Given the description of an element on the screen output the (x, y) to click on. 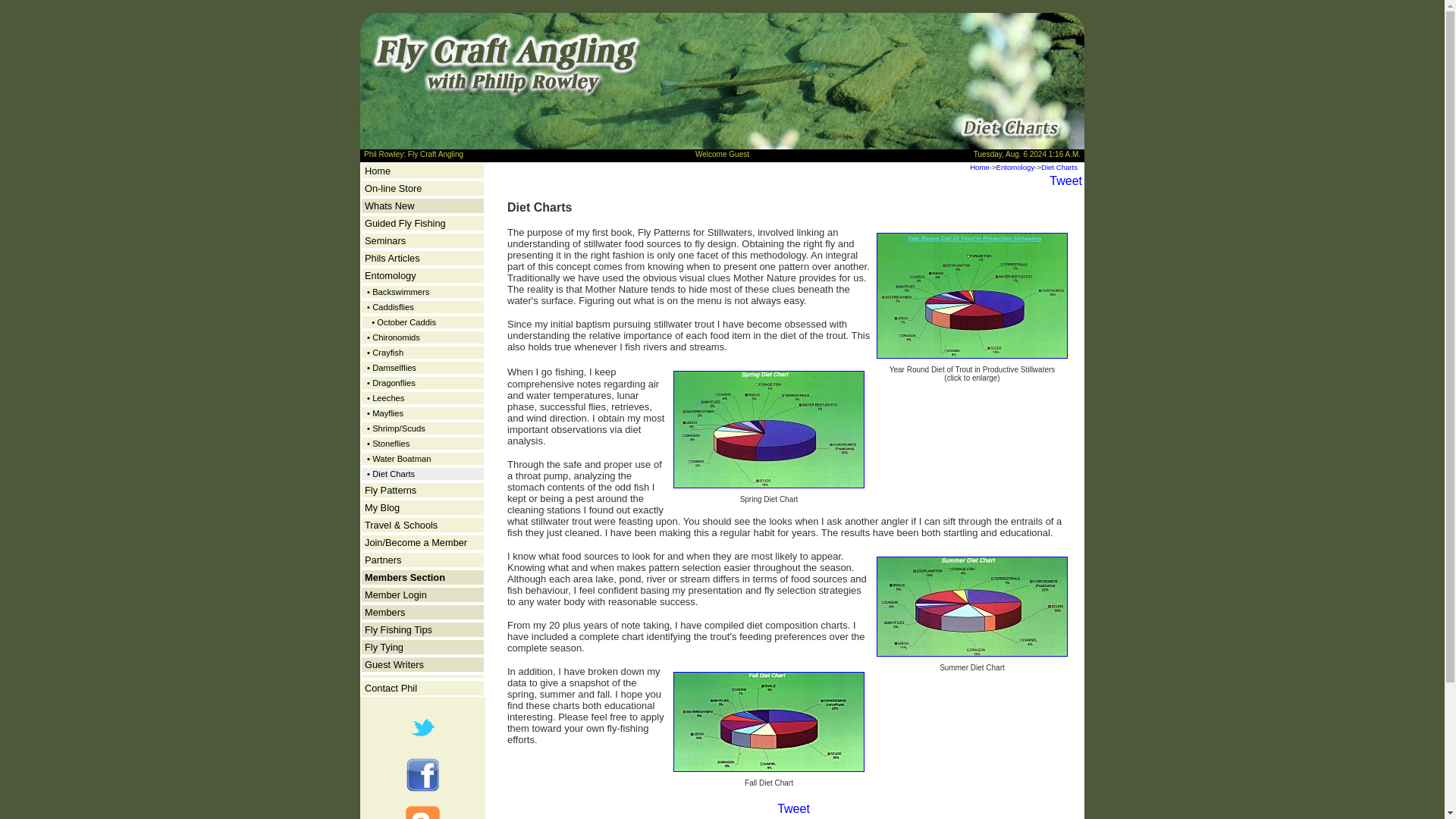
Contact Phil (390, 687)
Fly Patterns (390, 490)
Guest Writers (394, 664)
Phils Articles (392, 257)
Tweet (1065, 180)
Fly Fishing Tips (398, 629)
Guided Fly Fishing (405, 223)
Fly Tying (384, 646)
Entomology (1015, 166)
Seminars (385, 240)
Members (384, 612)
Whats New (389, 205)
Home (377, 170)
Home (979, 166)
Member Login (395, 594)
